Given the description of an element on the screen output the (x, y) to click on. 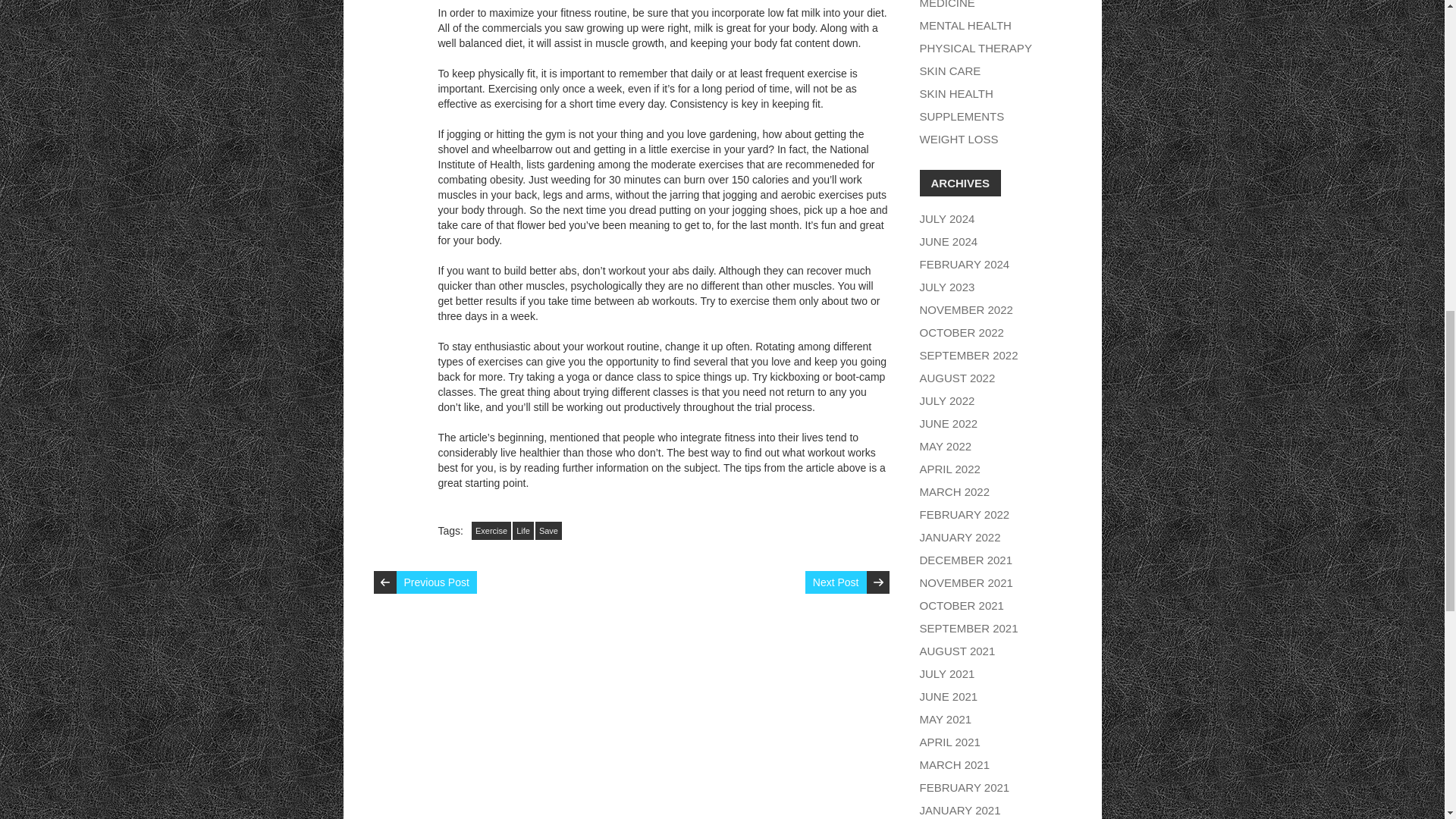
JULY 2023 (946, 286)
JULY 2024 (946, 218)
MEDICINE (946, 4)
SKIN CARE (948, 70)
SKIN HEALTH (955, 92)
Previous Post (436, 581)
Exercise (491, 530)
Life (523, 530)
Next Post (835, 581)
PHYSICAL THERAPY (974, 47)
